Given the description of an element on the screen output the (x, y) to click on. 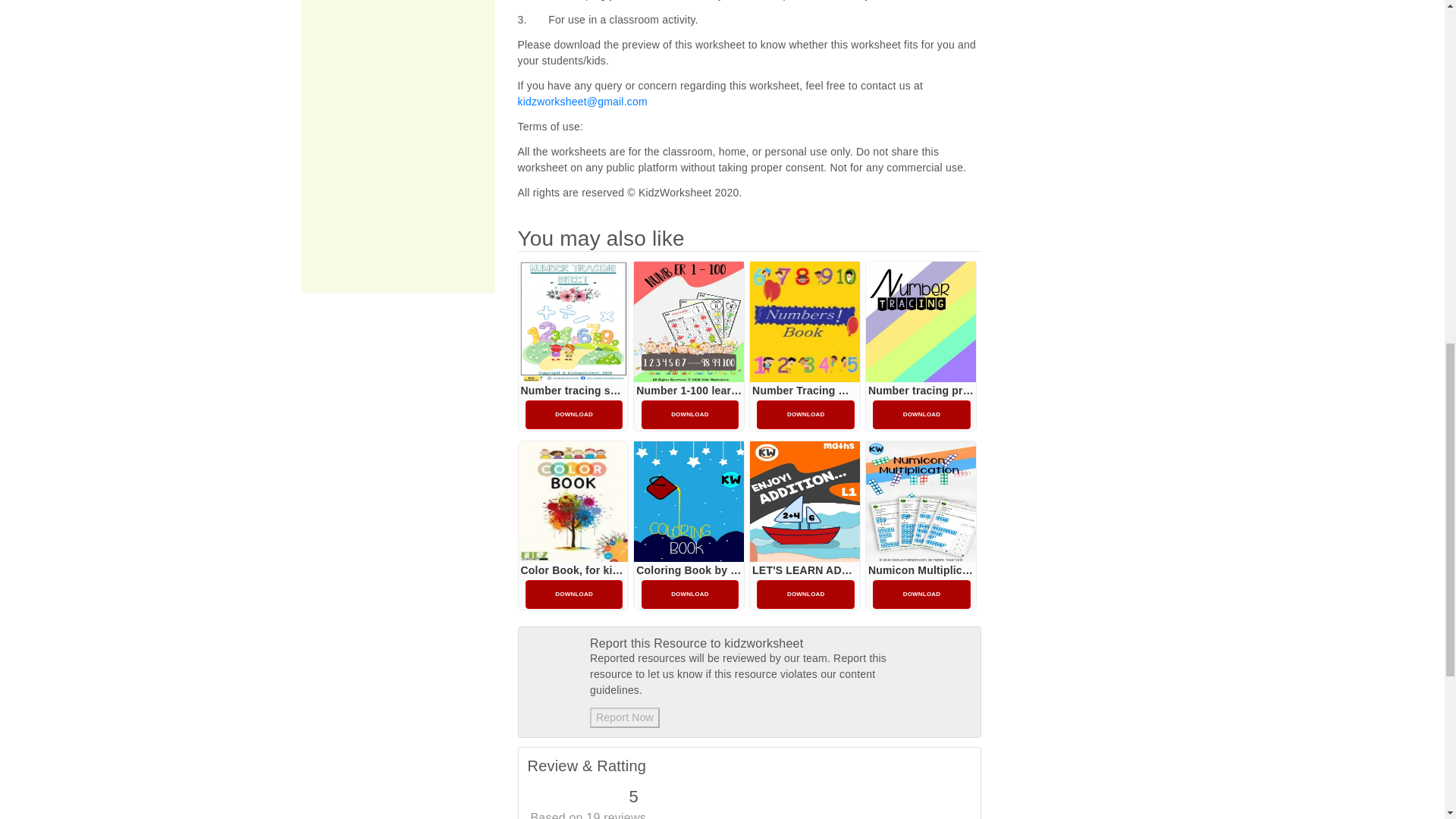
DOWNLOAD (574, 414)
